Given the description of an element on the screen output the (x, y) to click on. 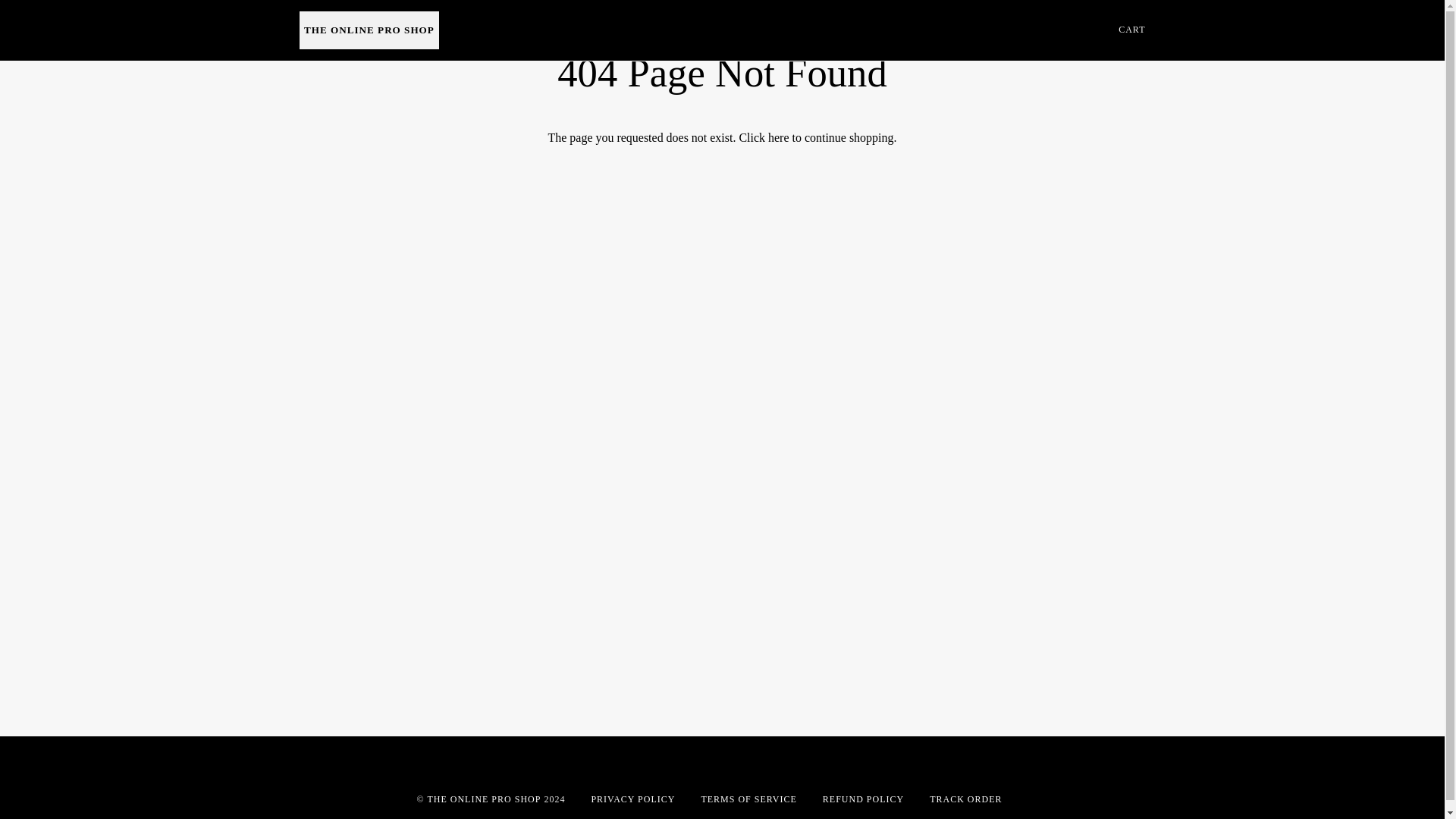
PRIVACY POLICY (633, 798)
TERMS OF SERVICE (748, 798)
THE ONLINE PRO SHOP (483, 798)
REFUND POLICY (863, 798)
TRACK ORDER (965, 798)
here (778, 137)
THE ONLINE PRO SHOP (368, 30)
